Given the description of an element on the screen output the (x, y) to click on. 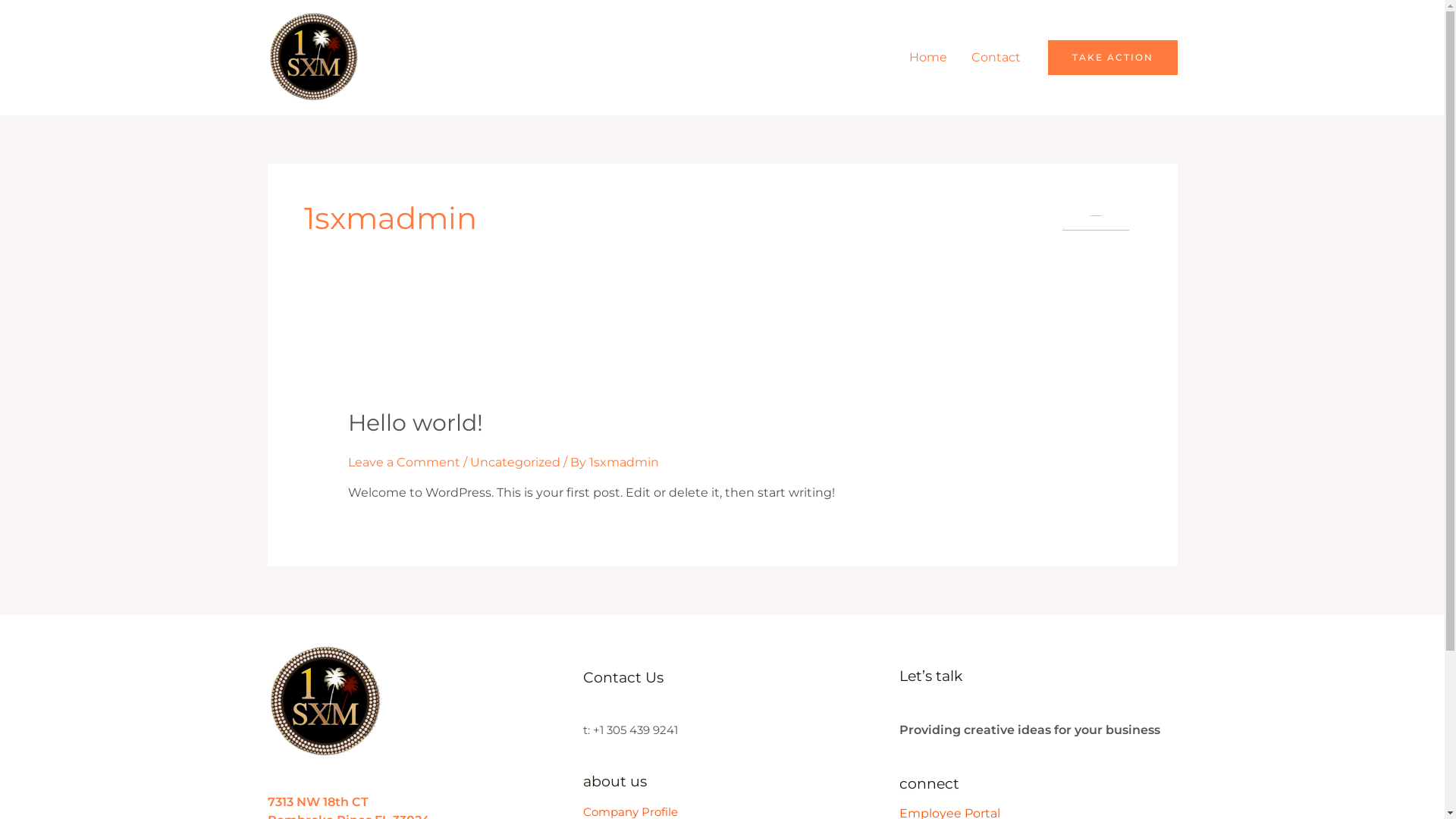
Home Element type: text (927, 57)
TAKE ACTION Element type: text (1112, 57)
Contact Element type: text (995, 57)
1sxmadmin Element type: text (623, 462)
Uncategorized Element type: text (515, 462)
Hello world! Element type: text (415, 422)
Leave a Comment Element type: text (404, 462)
